Given the description of an element on the screen output the (x, y) to click on. 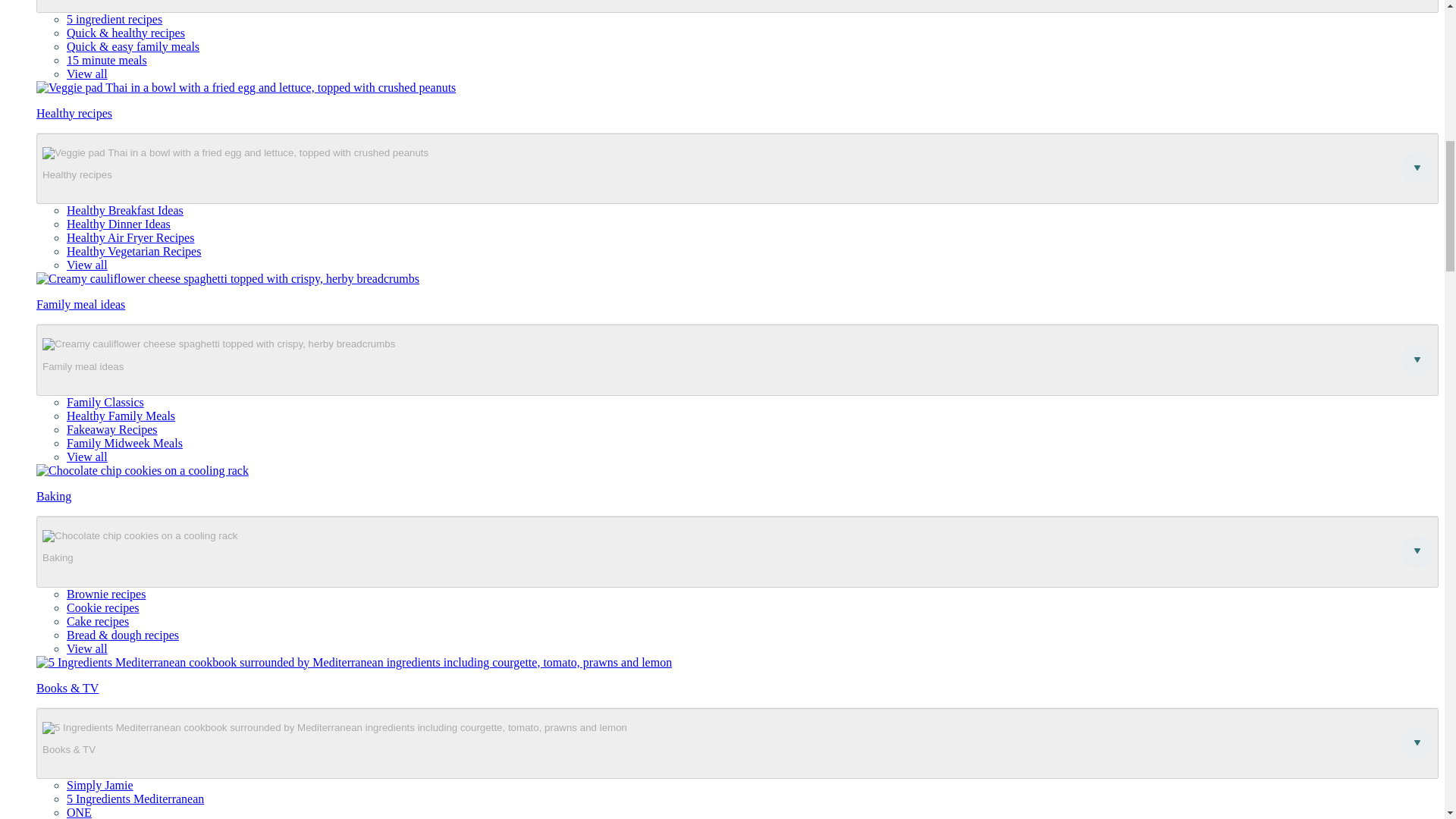
5 ingredient recipes (113, 19)
Healthy Vegetarian Recipes (133, 250)
View all (86, 73)
Healthy Breakfast Ideas (124, 210)
View all (86, 264)
Healthy Dinner Ideas (118, 223)
15 minute meals (106, 60)
Healthy Air Fryer Recipes (129, 237)
